Given the description of an element on the screen output the (x, y) to click on. 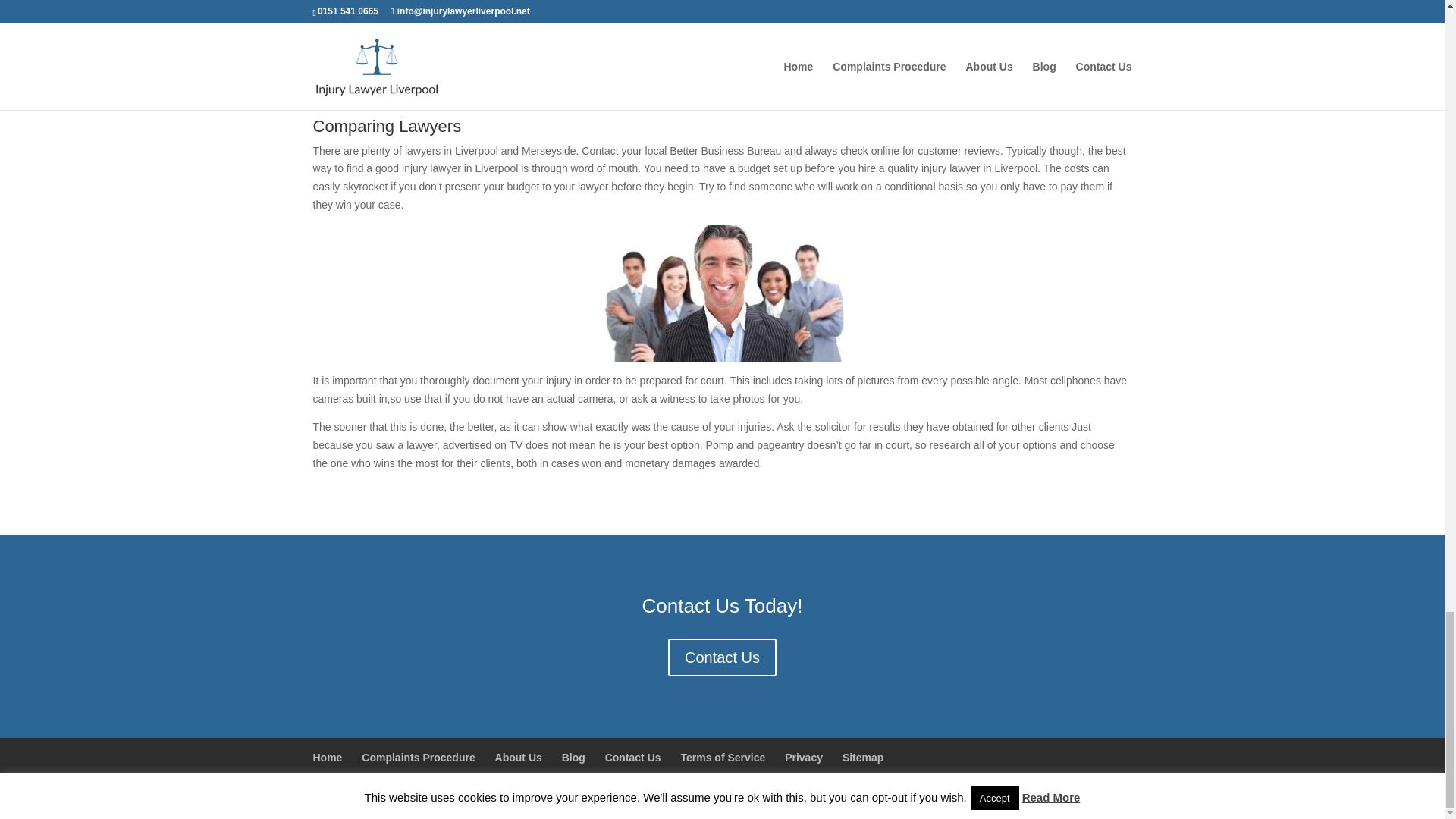
Injury Lawyer Liverpool (382, 798)
About Us (518, 757)
Terms of Service (722, 757)
Contact Us (722, 657)
Contact Us (633, 757)
Blog (573, 757)
Complaints Procedure (417, 757)
Privacy (803, 757)
Sitemap (863, 757)
Liverpool SEO Services (576, 798)
Home (327, 757)
